Given the description of an element on the screen output the (x, y) to click on. 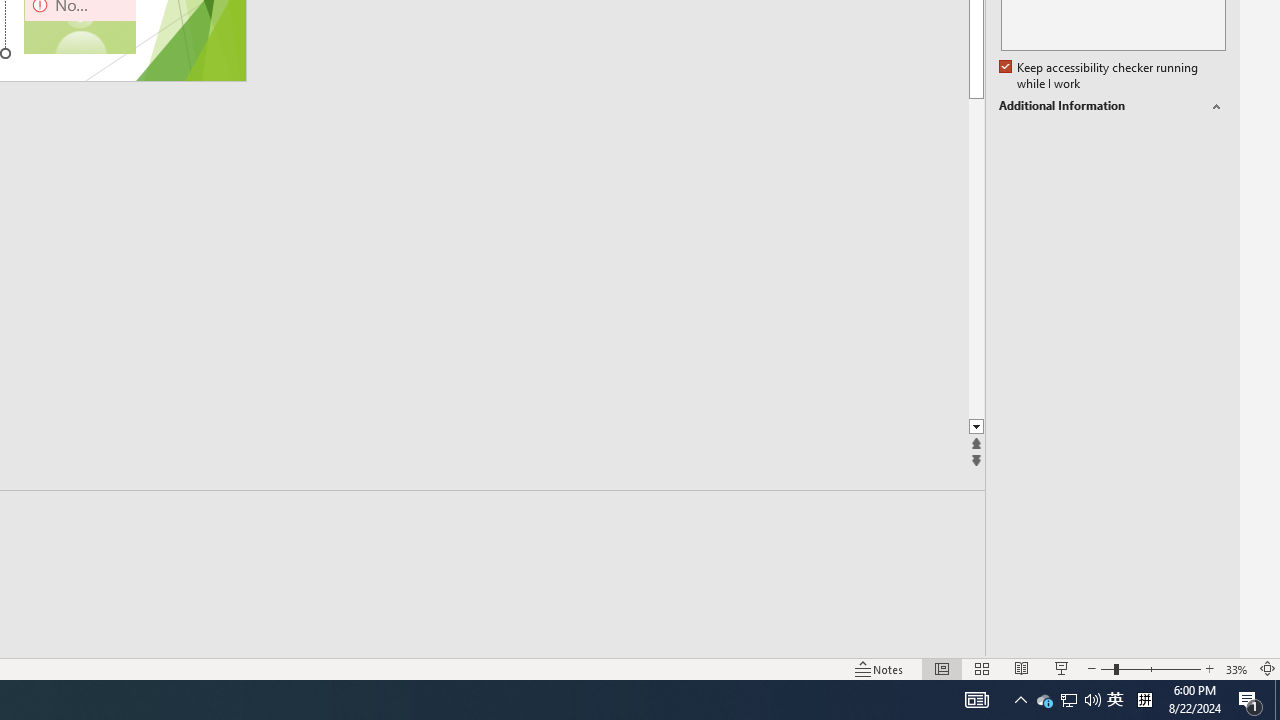
Zoom 33% (1236, 668)
Additional Information (1112, 106)
Keep accessibility checker running while I work (1099, 76)
